Given the description of an element on the screen output the (x, y) to click on. 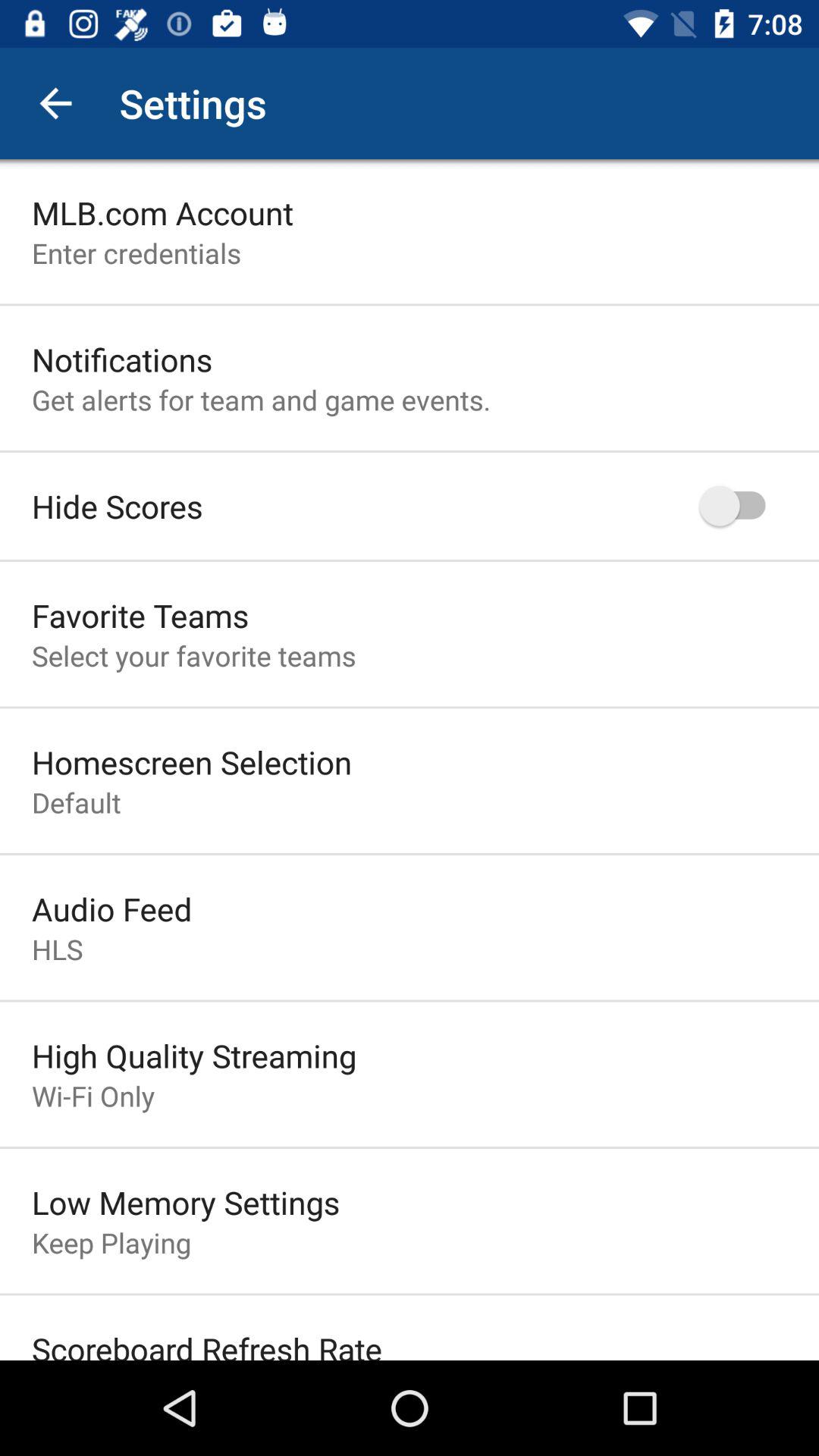
choose item above low memory settings item (92, 1095)
